Given the description of an element on the screen output the (x, y) to click on. 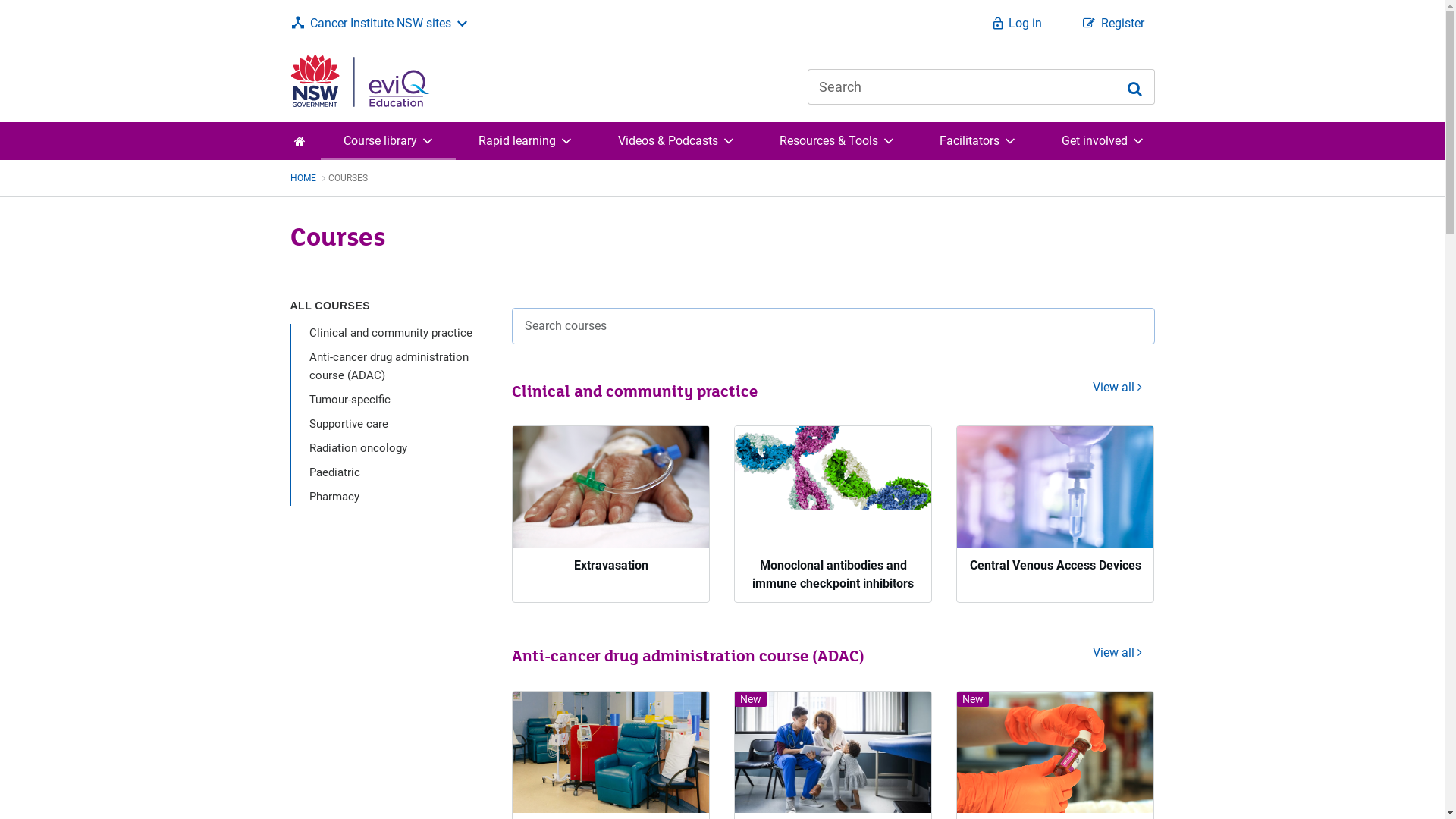
Clinical and community practice Element type: text (390, 332)
Cancer Institute NSW sites Element type: text (379, 23)
Home Element type: text (299, 141)
Radiation oncology Element type: text (358, 448)
Facilitators Element type: text (977, 141)
Supportive care Element type: text (348, 423)
Videos & Podcasts Element type: text (675, 141)
Pharmacy Element type: text (334, 496)
Search Element type: text (1134, 86)
Anti-cancer drug administration course (ADAC) Element type: text (388, 366)
Central Venous Access Devices Element type: text (1055, 504)
View all Element type: text (1116, 634)
Resources & Tools Element type: text (836, 141)
Rapid learning Element type: text (524, 141)
ALL COURSES Element type: text (329, 305)
Log in Element type: text (1016, 23)
Tumour-specific Element type: text (349, 399)
Monoclonal antibodies and immune checkpoint inhibitors Element type: text (832, 504)
Register Element type: text (1112, 23)
View all Element type: text (1116, 387)
Get involved Element type: text (1101, 141)
Extravasation Element type: text (610, 504)
Paediatric Element type: text (334, 472)
HOME Element type: text (308, 177)
Course library Element type: text (387, 141)
